Given the description of an element on the screen output the (x, y) to click on. 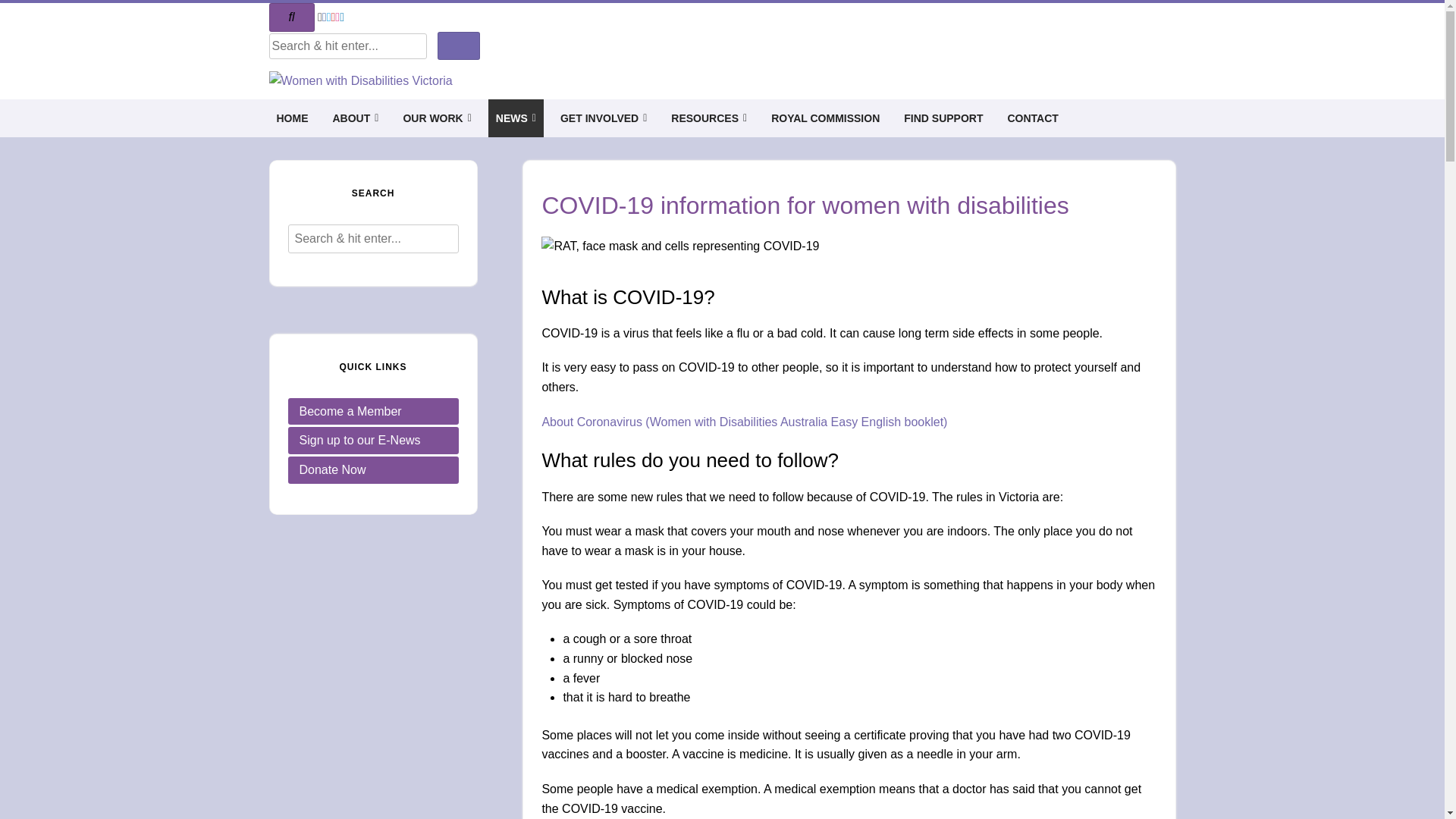
OUR WORK Element type: text (436, 118)
FIND SUPPORT Element type: text (943, 118)
CONTACT Element type: text (1032, 118)
Sign up to our E-News Element type: text (373, 440)
Follow Us on Instagram Element type: hover (337, 16)
Send Us an Email Element type: hover (319, 16)
Follow Us on Twitter Element type: hover (328, 16)
View our YouTube Channel Element type: hover (332, 16)
ROYAL COMMISSION Element type: text (825, 118)
HOME Element type: text (291, 118)
Find Us on Facebook Element type: hover (324, 16)
Find Us on LinkedIn Element type: hover (341, 16)
Become a Member Element type: text (373, 411)
GET INVOLVED Element type: text (603, 118)
ABOUT Element type: text (354, 118)
RESOURCES Element type: text (708, 118)
NEWS Element type: text (515, 118)
Donate Now Element type: text (373, 469)
